Given the description of an element on the screen output the (x, y) to click on. 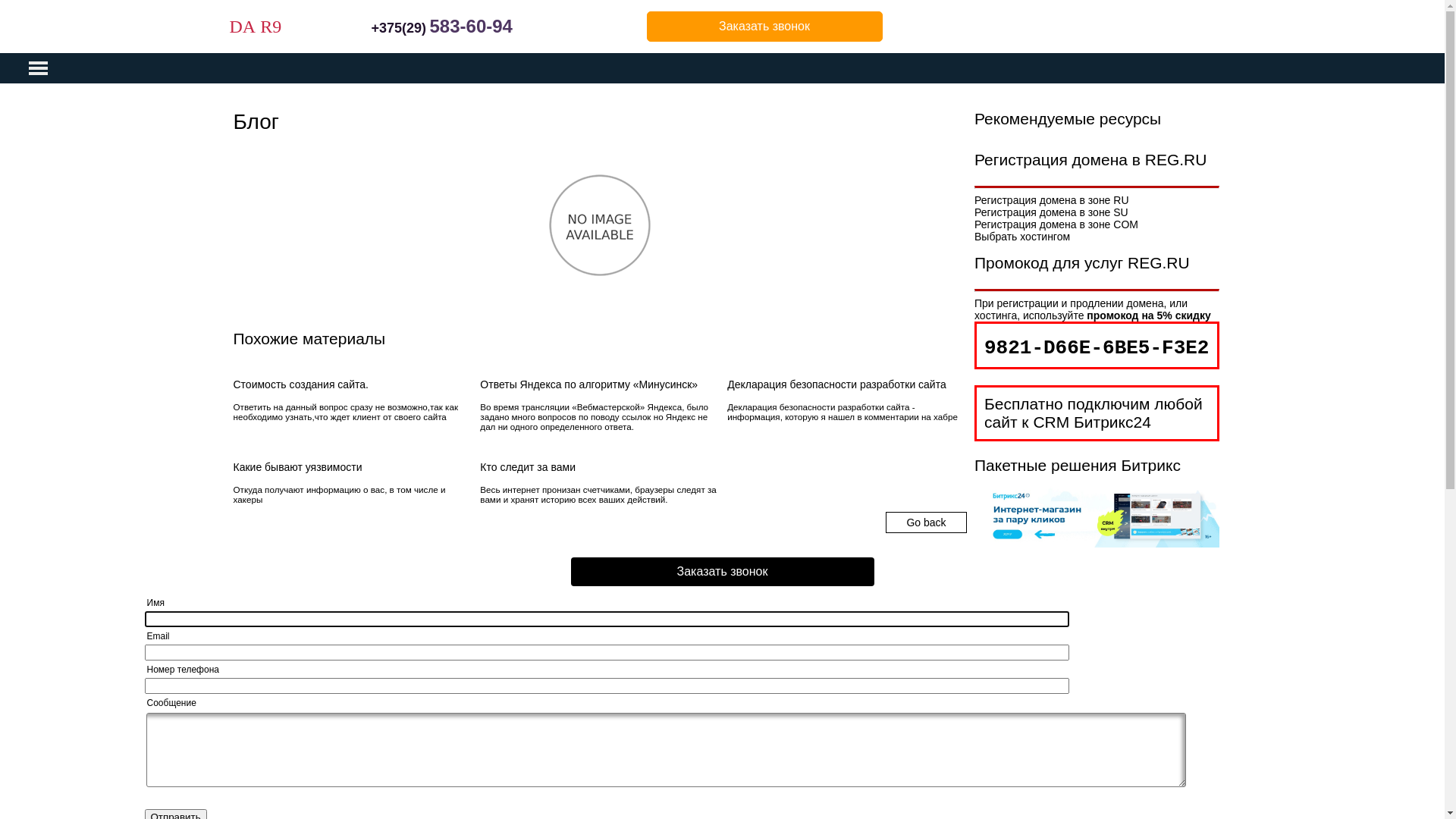
+375(29) 583-60-94 Element type: text (441, 27)
Go back Element type: text (925, 522)
